Given the description of an element on the screen output the (x, y) to click on. 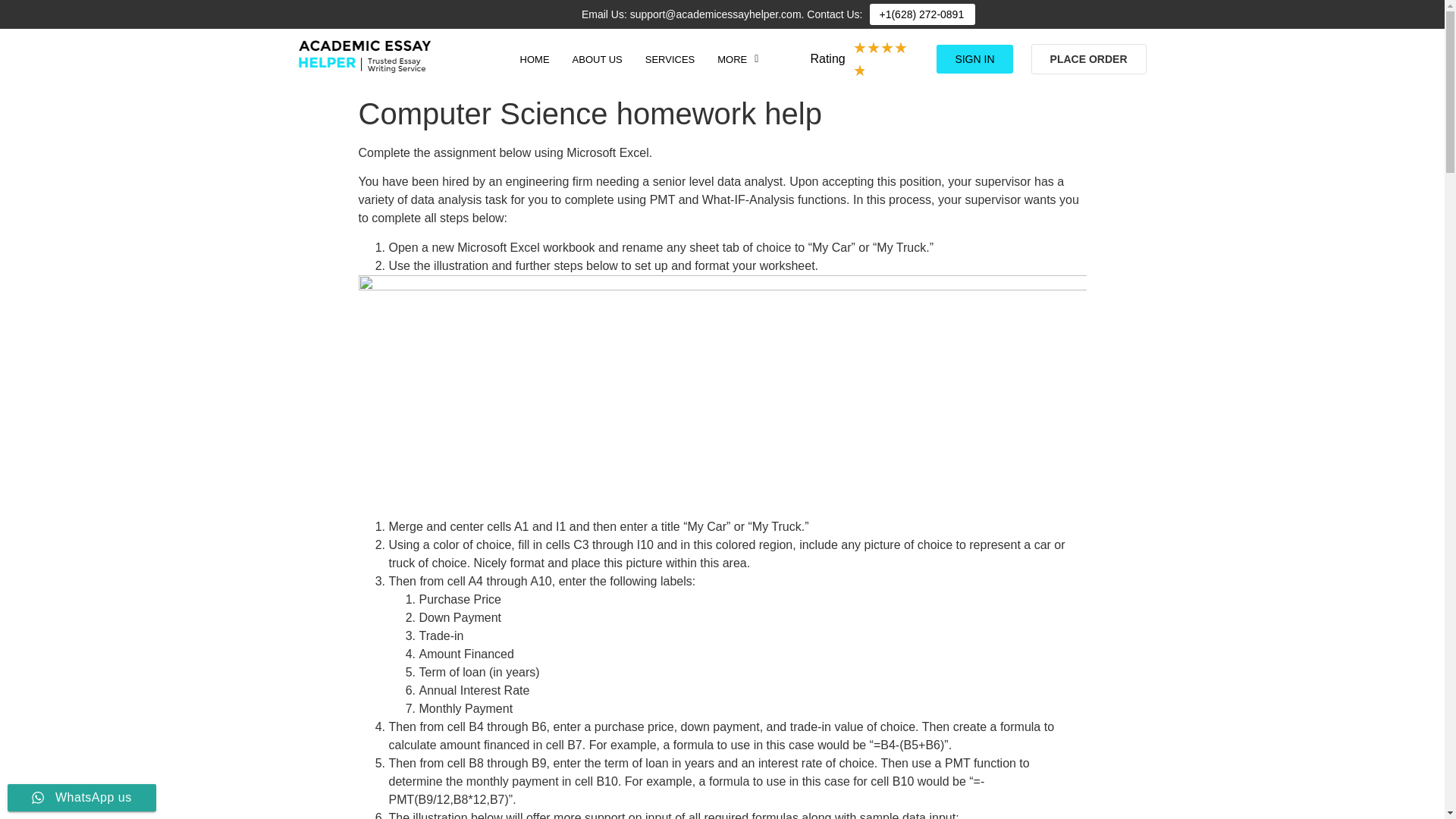
MORE (738, 58)
PLACE ORDER (1088, 59)
HOME (534, 58)
SIGN IN (973, 59)
ABOUT US (596, 58)
SERVICES (669, 58)
